Given the description of an element on the screen output the (x, y) to click on. 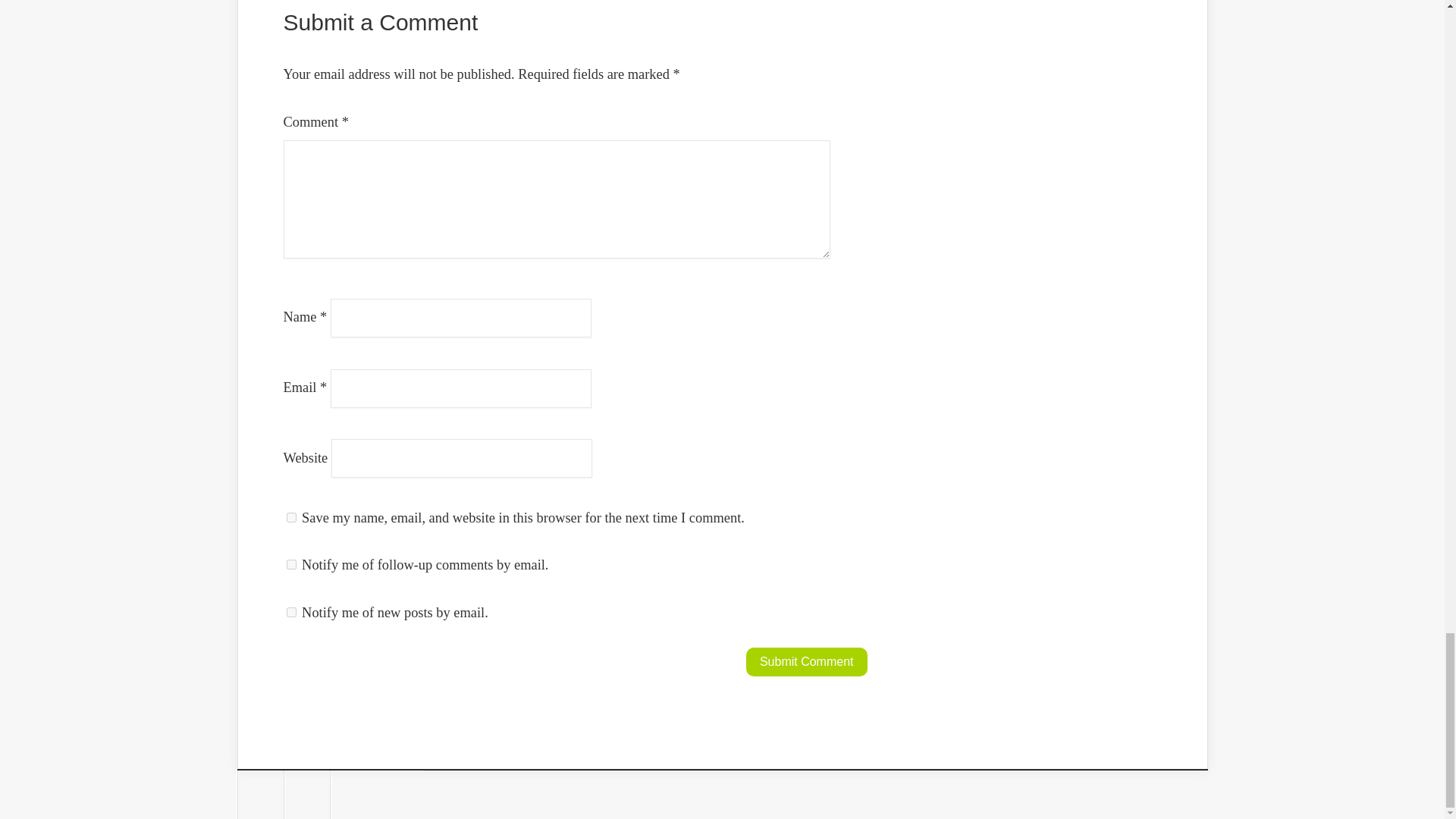
Submit Comment (806, 661)
yes (291, 517)
subscribe (291, 564)
Submit Comment (806, 661)
subscribe (291, 612)
